Given the description of an element on the screen output the (x, y) to click on. 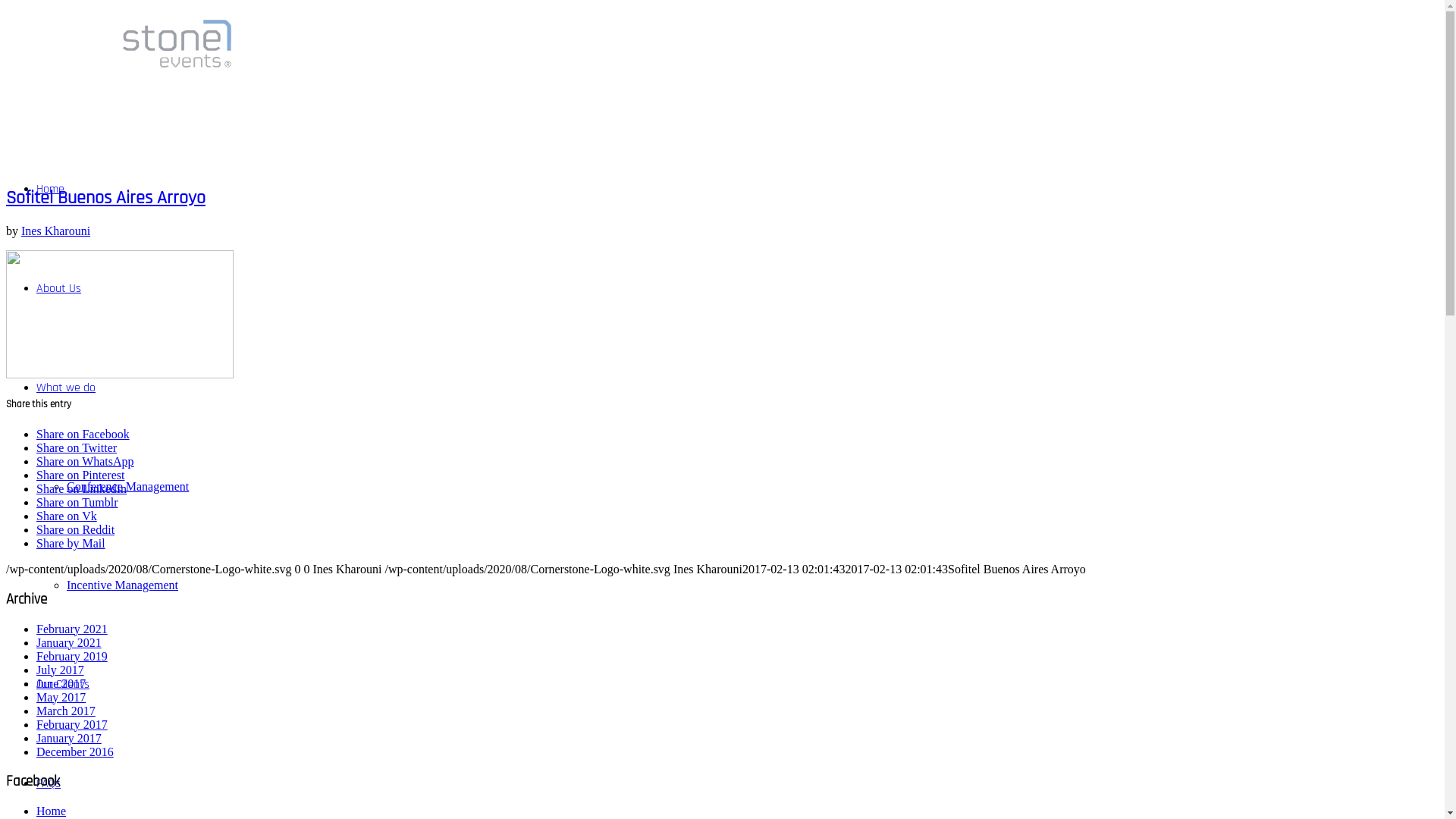
Share on Vk Element type: text (66, 515)
June 2017 Element type: text (60, 683)
Share on Twitter Element type: text (76, 447)
Incentive Management Element type: text (122, 584)
About Us Element type: text (58, 288)
What we do Element type: text (65, 387)
Ines Kharouni Element type: text (55, 230)
Our Clients Element type: text (62, 684)
March 2017 Element type: text (65, 710)
Share on LinkedIn Element type: text (81, 488)
May 2017 Element type: text (60, 696)
Conference Management Element type: text (127, 486)
Share on Pinterest Element type: text (80, 474)
February 2017 Element type: text (71, 724)
December 2016 Element type: text (74, 751)
Home Element type: text (50, 810)
FAQs Element type: text (48, 783)
Share on Tumblr Element type: text (77, 501)
July 2017 Element type: text (60, 669)
Share by Mail Element type: text (70, 542)
February 2021 Element type: text (71, 628)
January 2021 Element type: text (68, 642)
Share on Reddit Element type: text (75, 529)
Share on WhatsApp Element type: text (85, 461)
Home Element type: text (50, 189)
February 2019 Element type: text (71, 655)
Sofitel Buenos Aires Arroyo Element type: text (105, 197)
Share on Facebook Element type: text (82, 433)
January 2017 Element type: text (68, 737)
